Given the description of an element on the screen output the (x, y) to click on. 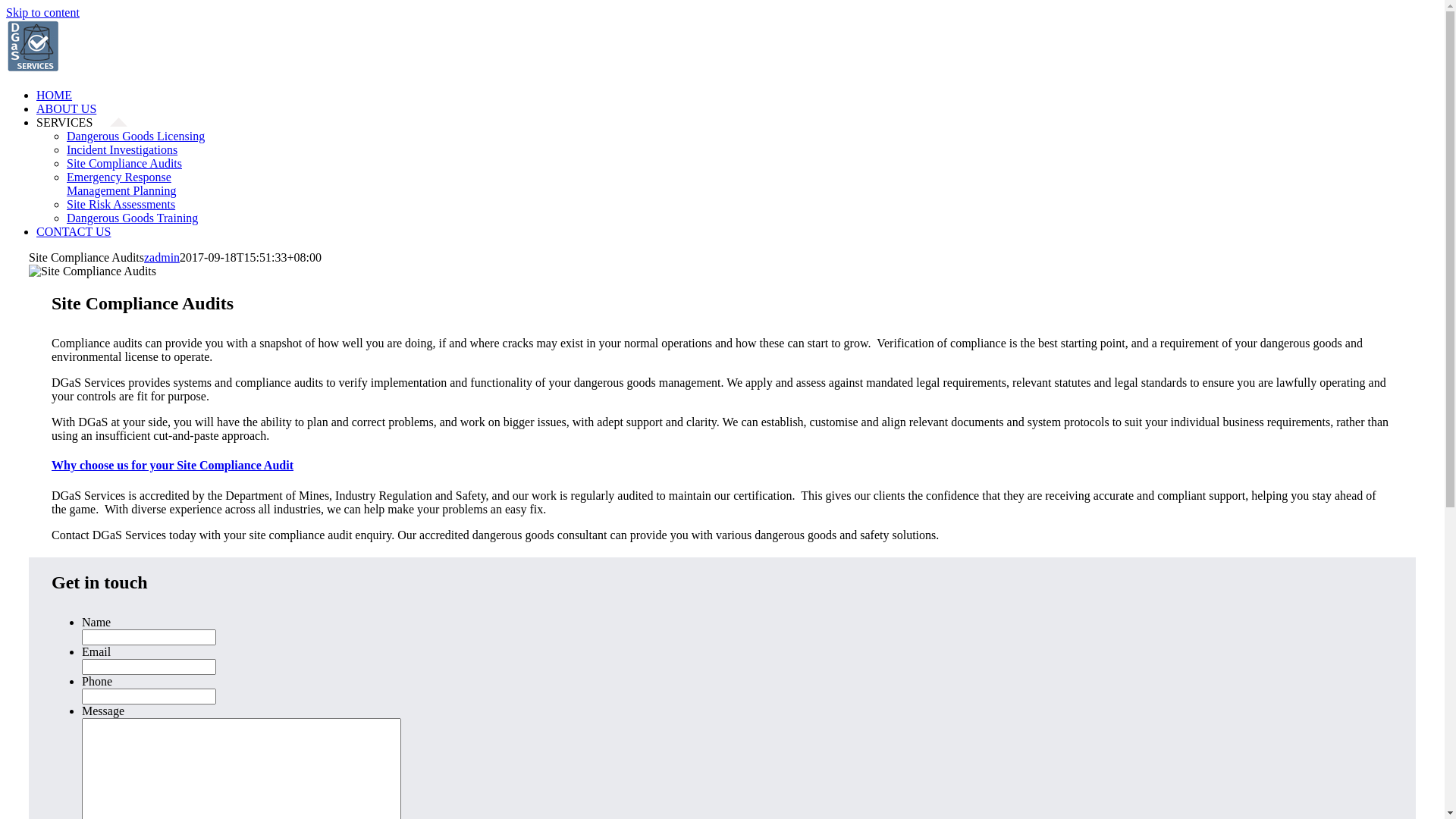
zadmin Element type: text (161, 257)
ABOUT US Element type: text (74, 108)
CONTACT US Element type: text (82, 231)
Site Compliance Audits Perth Element type: hover (92, 271)
Why choose us for your Site Compliance Audit Element type: text (722, 465)
Dangerous Goods Training Element type: text (131, 217)
Emergency Response Management Planning Element type: text (120, 183)
Site Compliance Audits Element type: text (124, 162)
Incident Investigations Element type: text (121, 149)
Site Risk Assessments Element type: text (120, 203)
SERVICES Element type: text (81, 122)
Skip to content Element type: text (42, 12)
HOME Element type: text (62, 94)
Dangerous Goods Licensing Element type: text (135, 135)
